Given the description of an element on the screen output the (x, y) to click on. 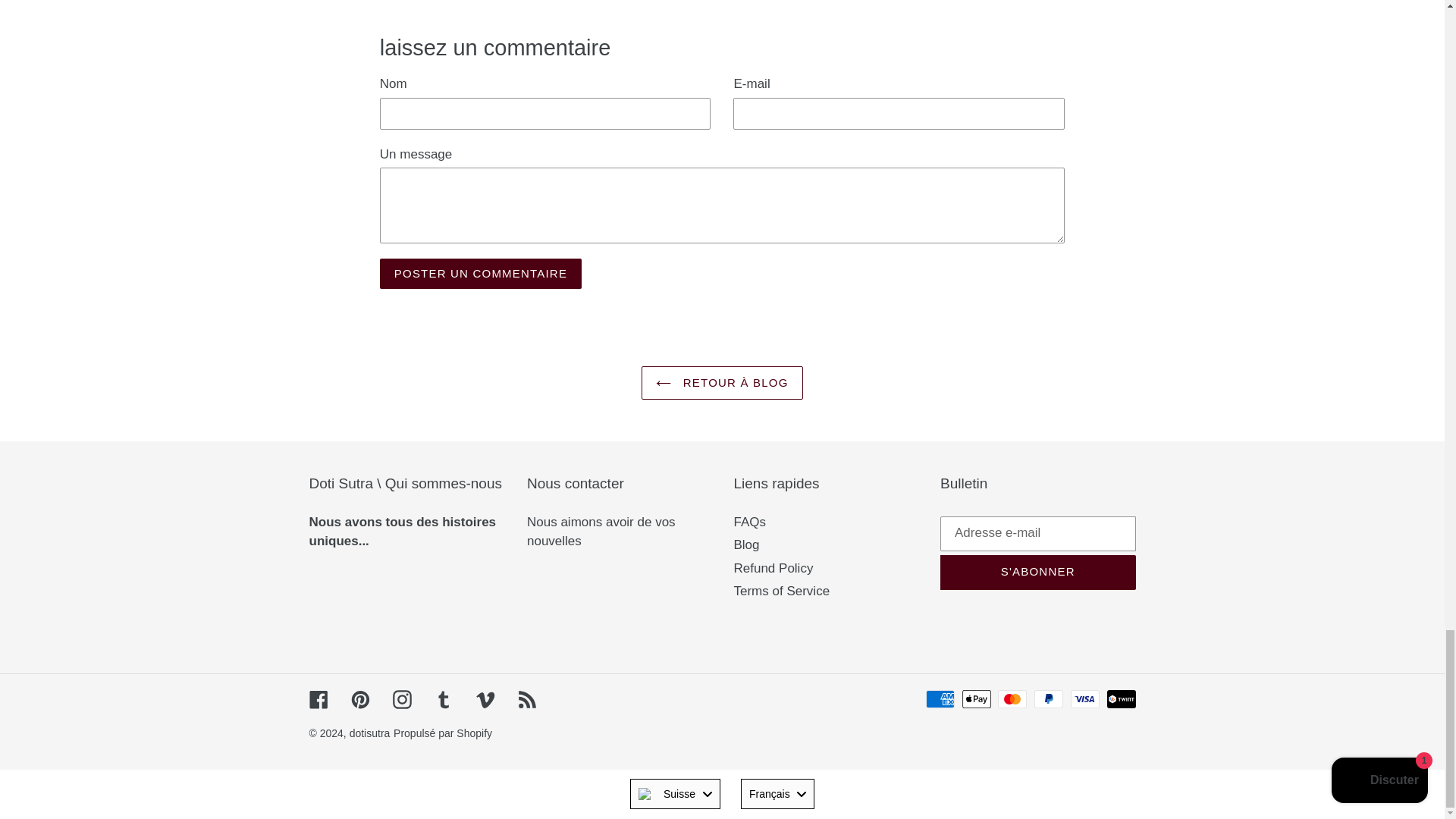
avoir de vos nouvelles  (601, 531)
Nous aimons (566, 522)
Blog (746, 544)
Contact us (566, 522)
FAQs (750, 522)
Poster un commentaire (480, 273)
Poster un commentaire (480, 273)
We (402, 531)
Nous avons tous des histoires uniques... (402, 531)
Contact us (601, 531)
